Given the description of an element on the screen output the (x, y) to click on. 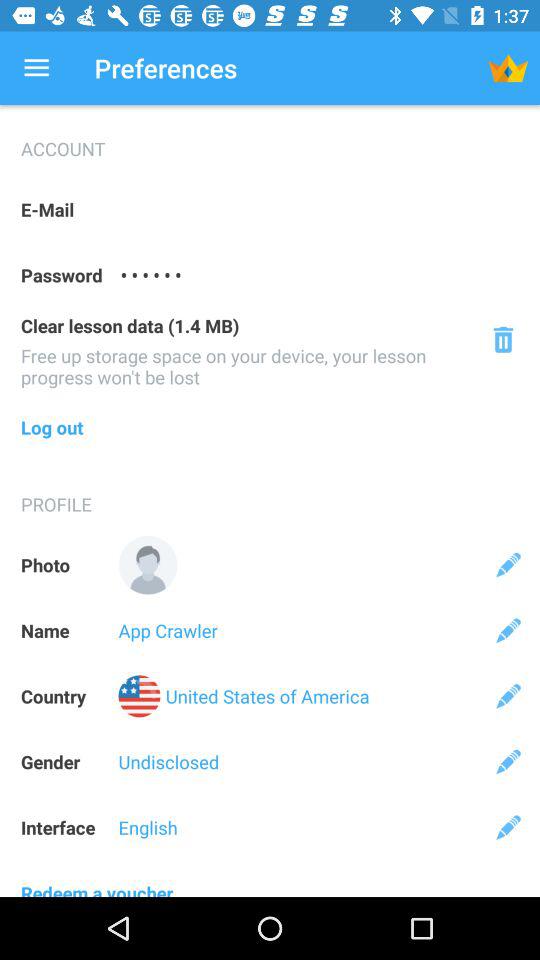
edit gender (508, 761)
